Given the description of an element on the screen output the (x, y) to click on. 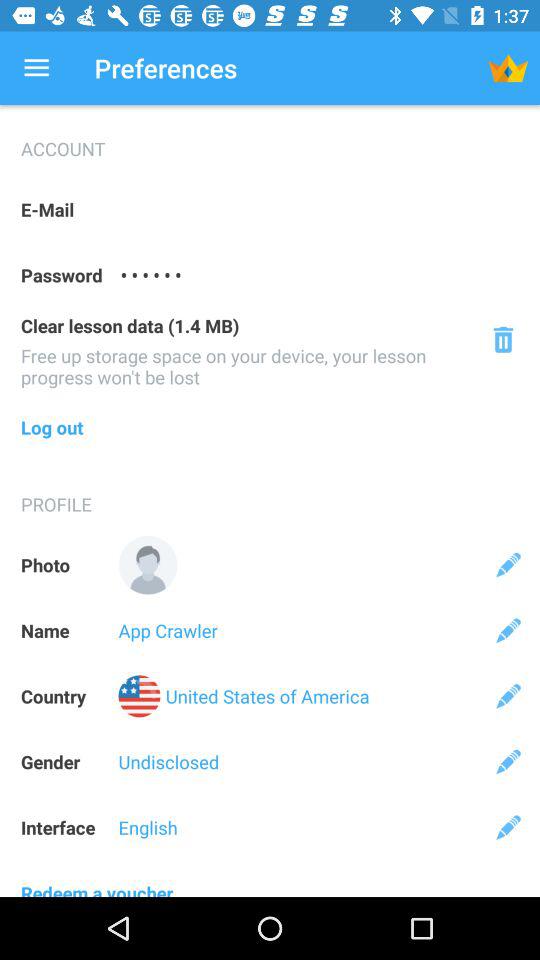
edit gender (508, 761)
